Given the description of an element on the screen output the (x, y) to click on. 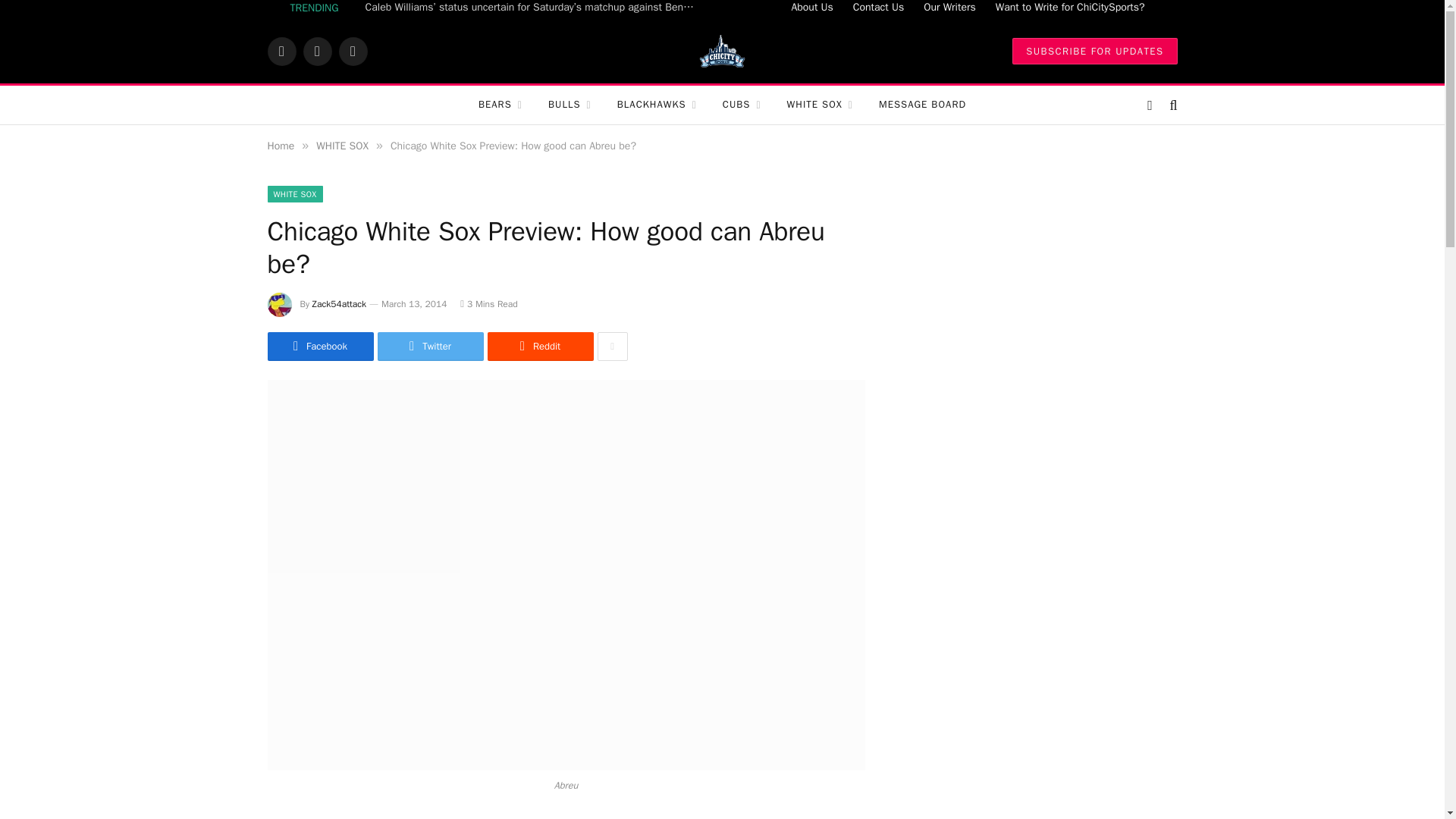
Posts by Zack54attack (339, 304)
Switch to Dark Design - easier on eyes. (1149, 105)
Share on Twitter (430, 346)
Share on Facebook (319, 346)
Share on Reddit (539, 346)
Show More Social Sharing (611, 346)
